Given the description of an element on the screen output the (x, y) to click on. 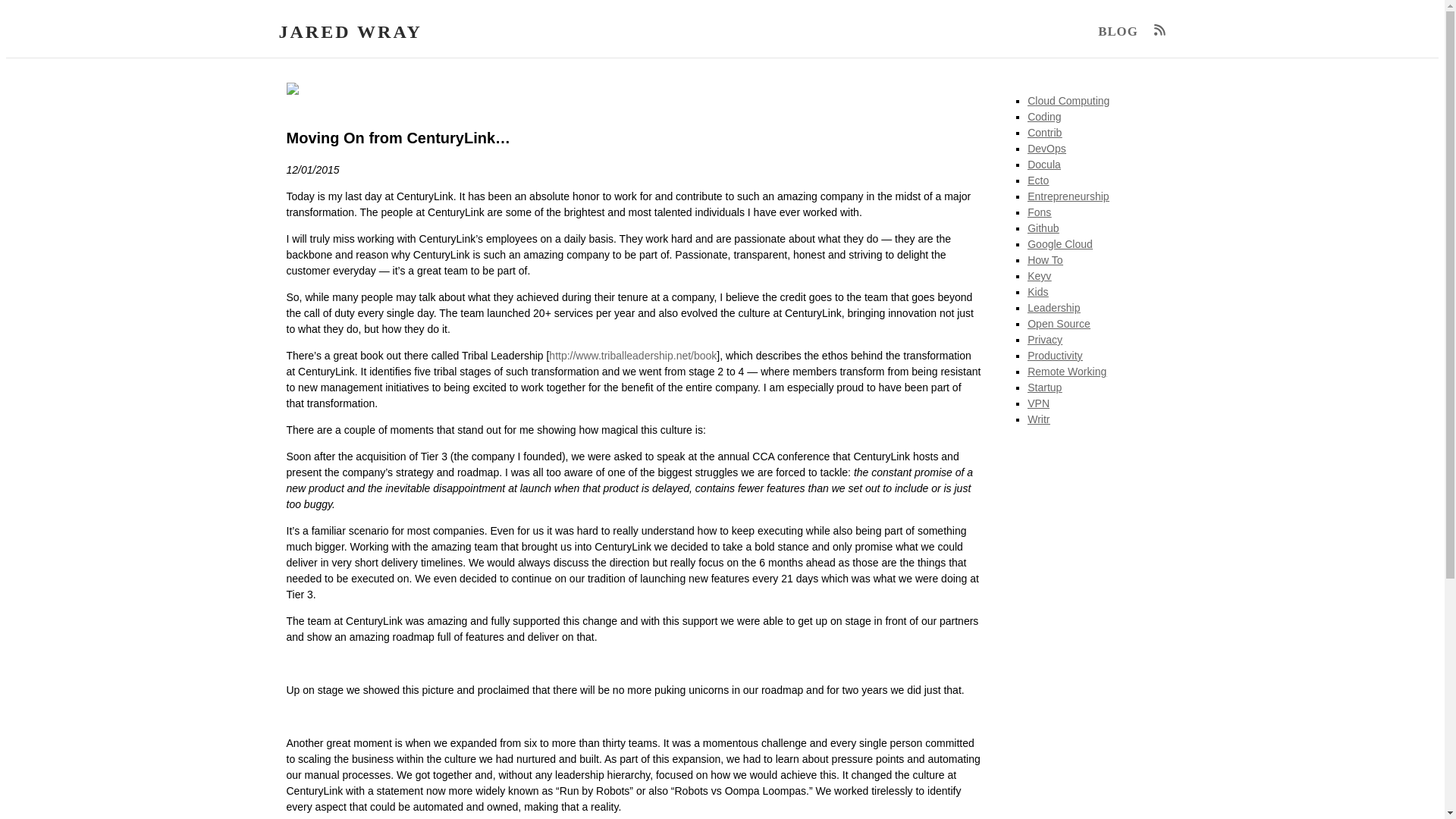
Startup (1044, 387)
Fons (1039, 212)
Open Source (1058, 323)
JARED WRAY (350, 31)
Remote Working (1066, 371)
Coding (1044, 116)
DevOps (1046, 148)
Cloud Computing (1068, 101)
Leadership (1053, 307)
Writr (1038, 419)
Ecto (1037, 180)
BLOG (1122, 31)
Github (1042, 227)
How To (1044, 259)
Privacy (1044, 339)
